Given the description of an element on the screen output the (x, y) to click on. 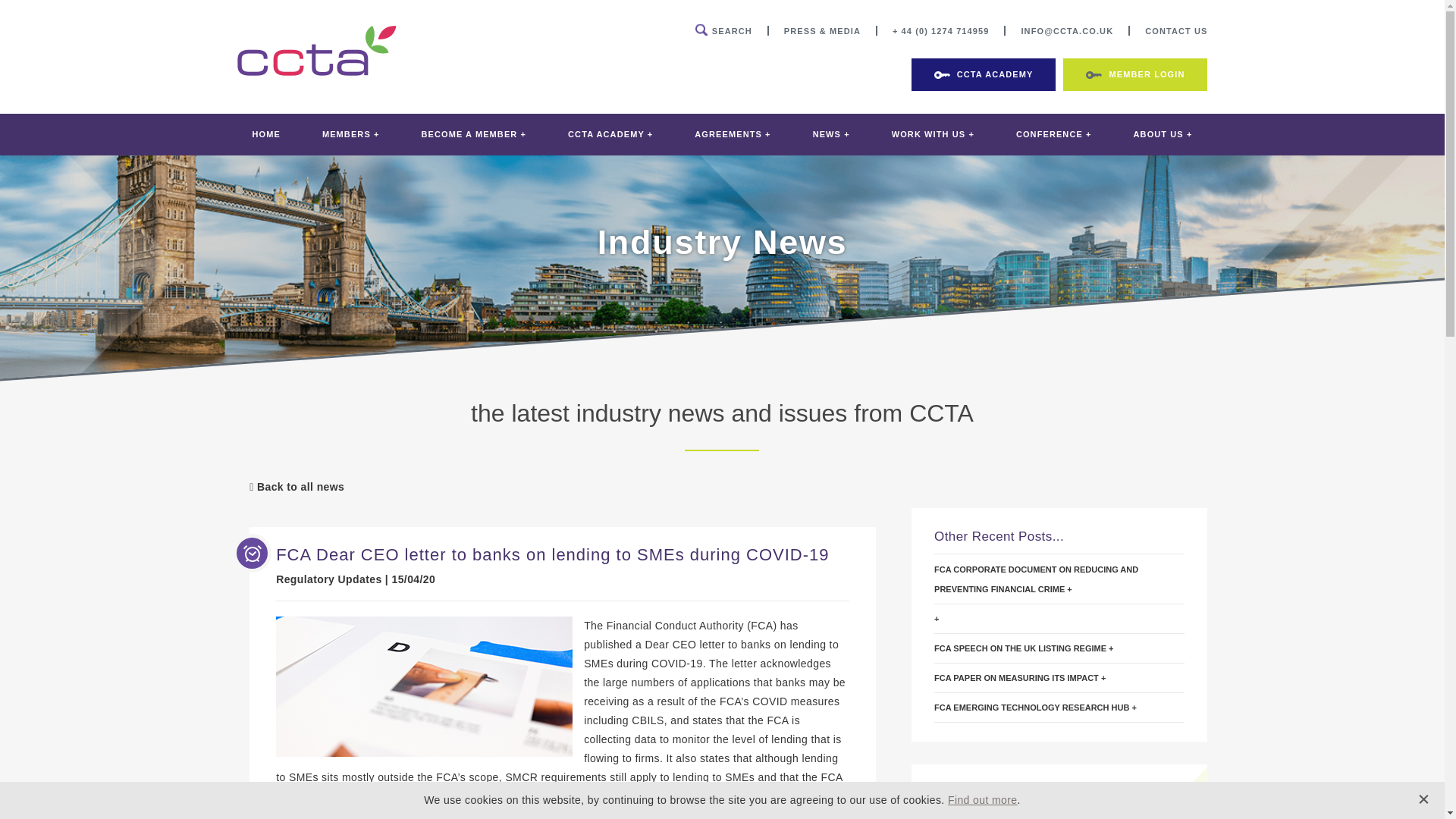
CCTA ACADEMY (984, 74)
SEARCH (723, 30)
HOME (265, 134)
CONTACT US (1175, 31)
MEMBER LOGIN (1134, 74)
CCTA (316, 71)
